Given the description of an element on the screen output the (x, y) to click on. 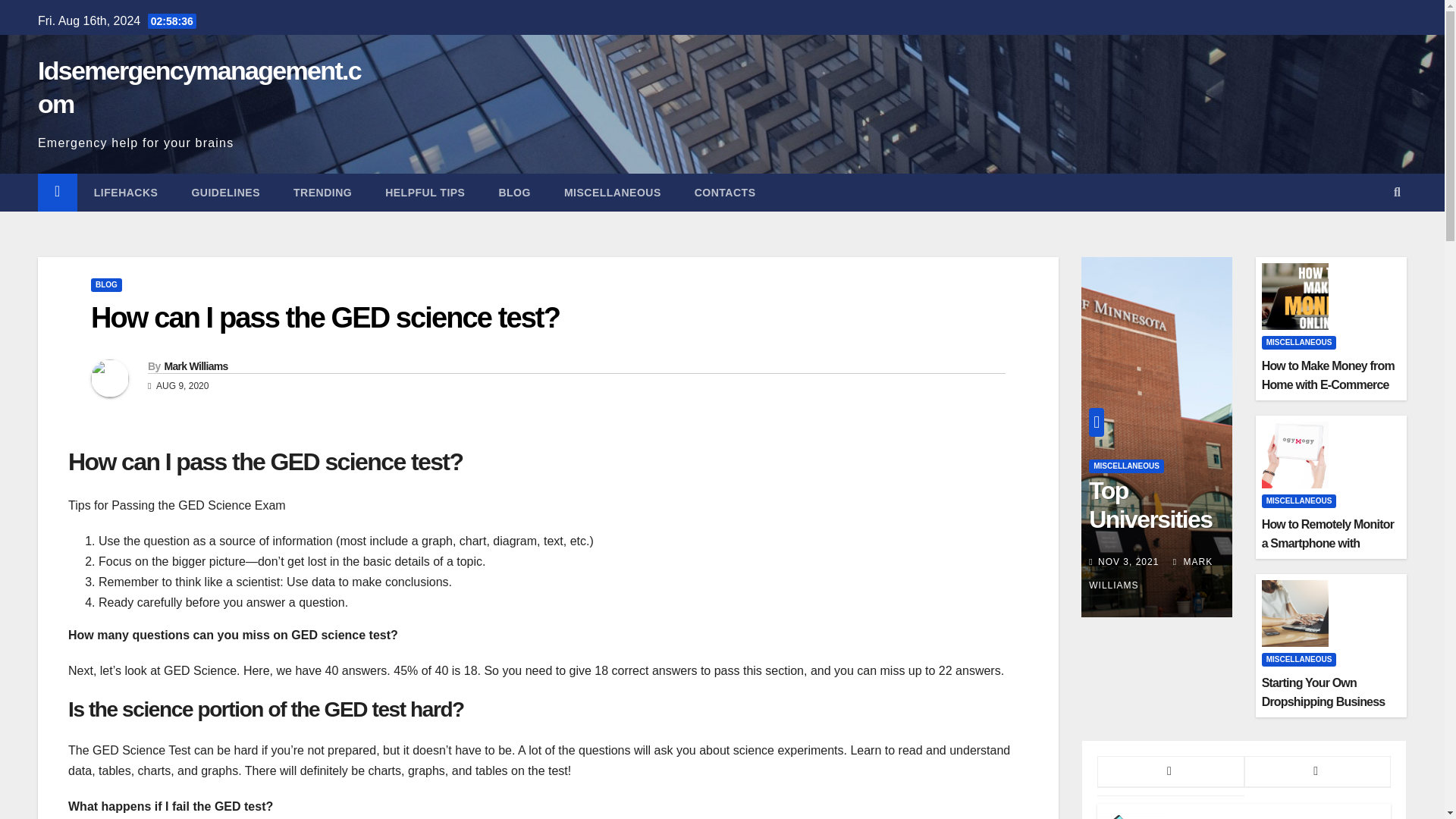
How can I pass the GED science test? (324, 317)
MISCELLANEOUS (612, 192)
GUIDELINES (225, 192)
Mark Williams (195, 366)
LIFEHACKS (125, 192)
Trending (322, 192)
MISCELLANEOUS (1126, 466)
Helpful tips (424, 192)
Contacts (725, 192)
Guidelines (225, 192)
